Given the description of an element on the screen output the (x, y) to click on. 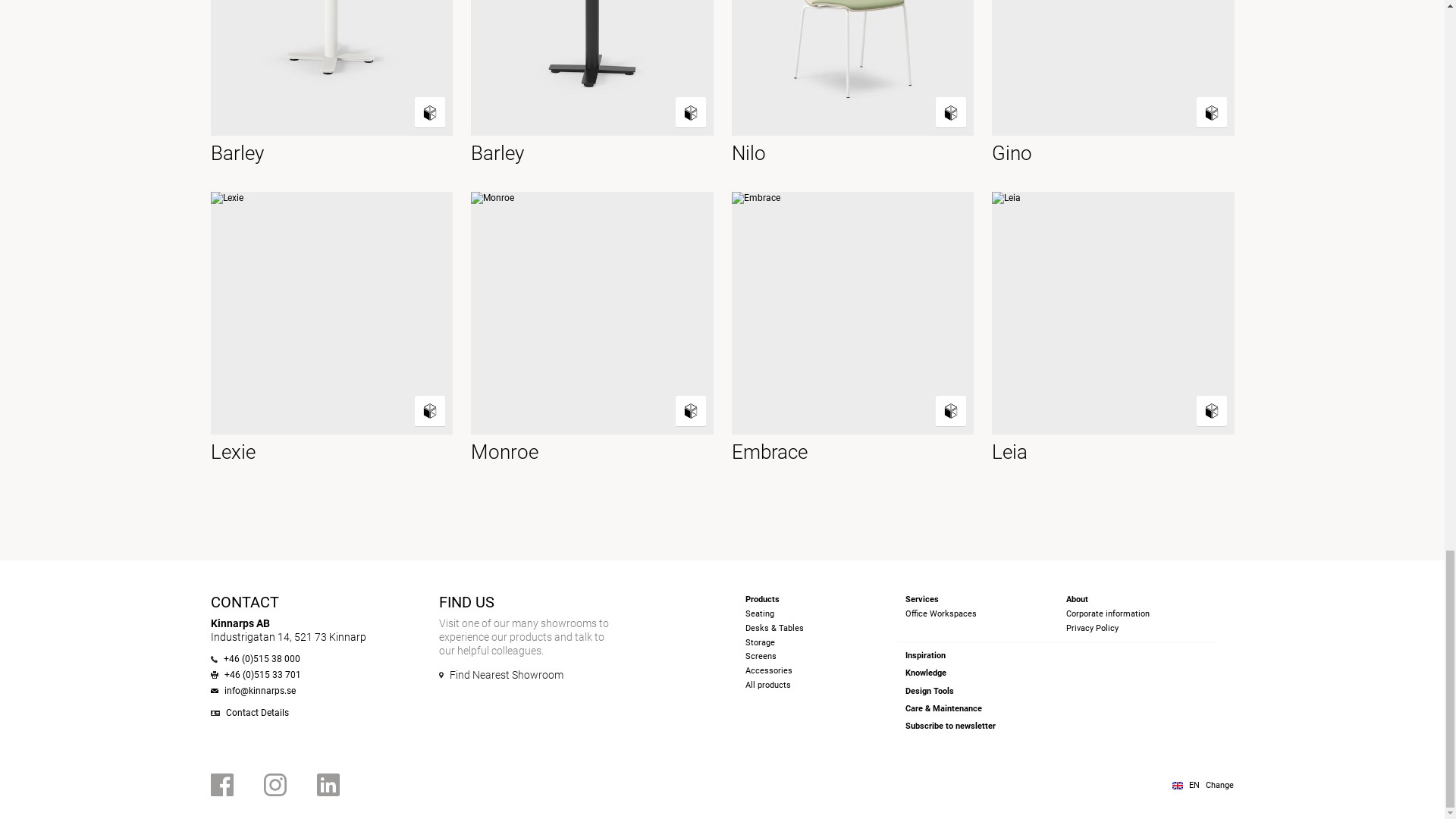
Subscribe to Kinnarps newsletter (950, 726)
